Given the description of an element on the screen output the (x, y) to click on. 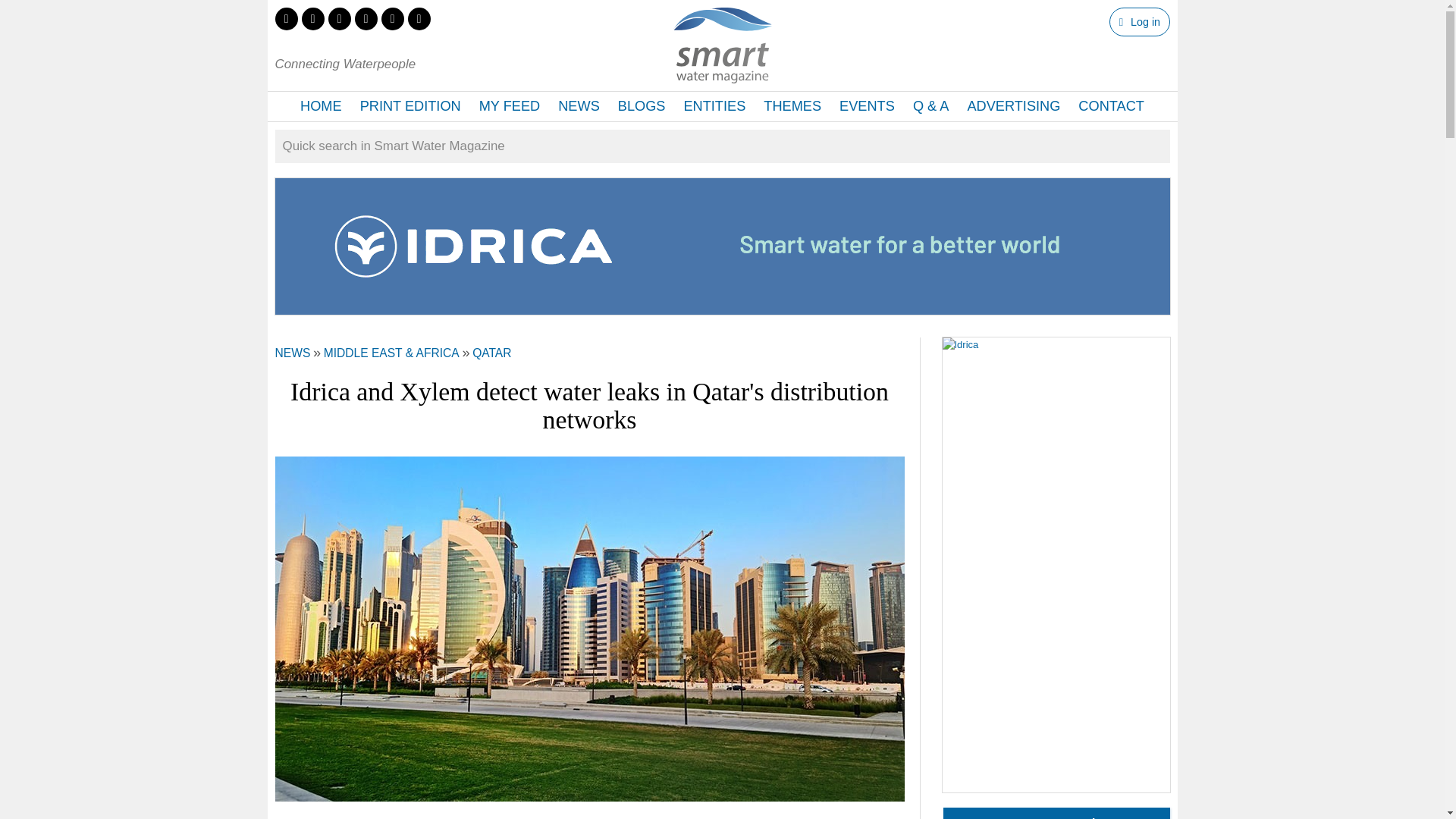
Search (24, 12)
Follow us on Instagram (366, 18)
BLOGS (641, 106)
THEMES (791, 106)
ADVERTISING (1013, 106)
Follow us on Youtube (391, 18)
QATAR (491, 352)
NEWS (292, 352)
Subscribe to our newsletter (418, 18)
Follow us on Facebook (312, 18)
